Given the description of an element on the screen output the (x, y) to click on. 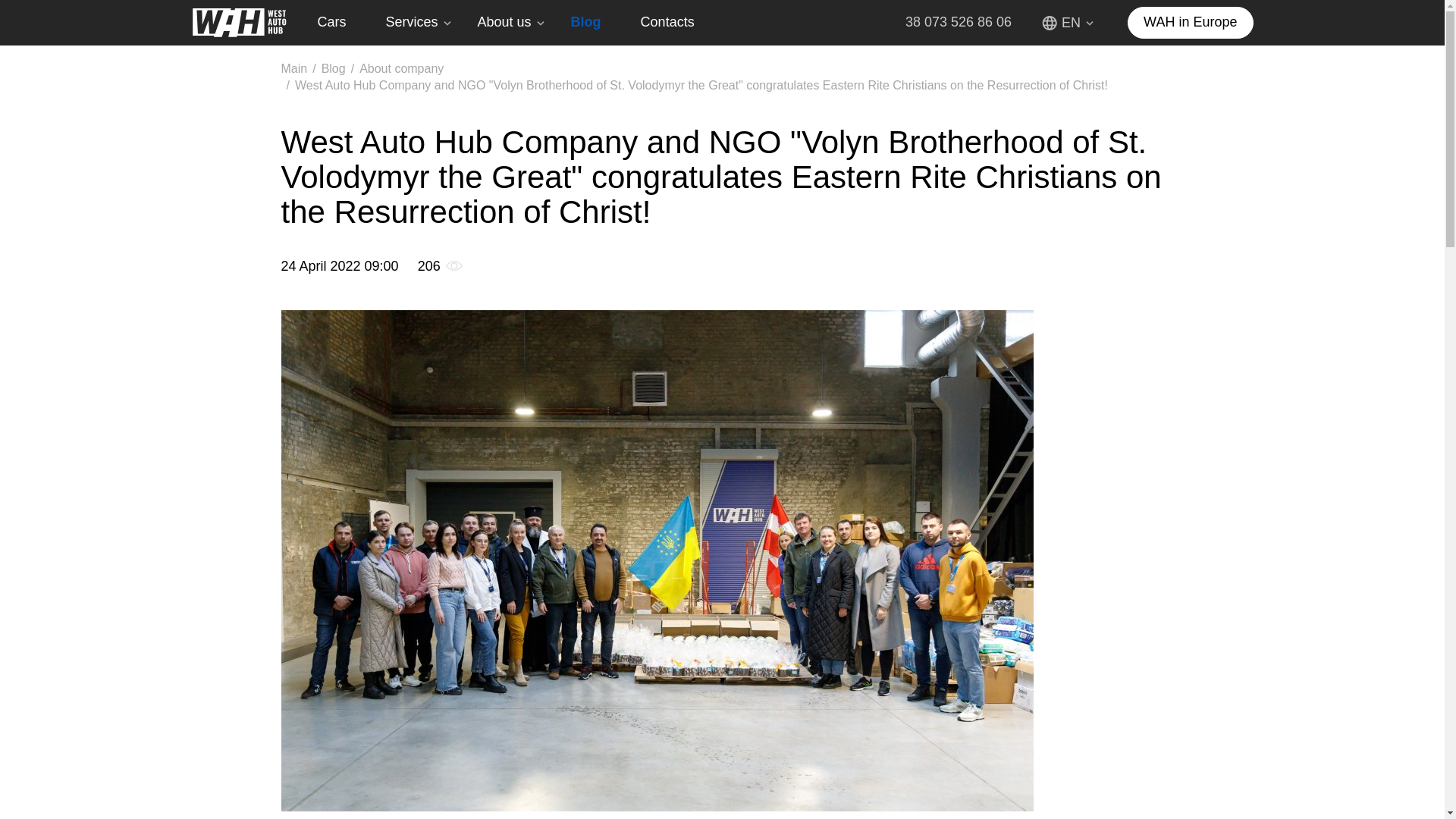
About us (512, 22)
Main (294, 68)
Blog (333, 68)
Contacts (675, 22)
EN (1069, 22)
About company (401, 68)
Services (419, 22)
Blog (593, 22)
38 073 526 86 06 (958, 22)
Cars (339, 22)
WAH in Europe (1189, 22)
